Given the description of an element on the screen output the (x, y) to click on. 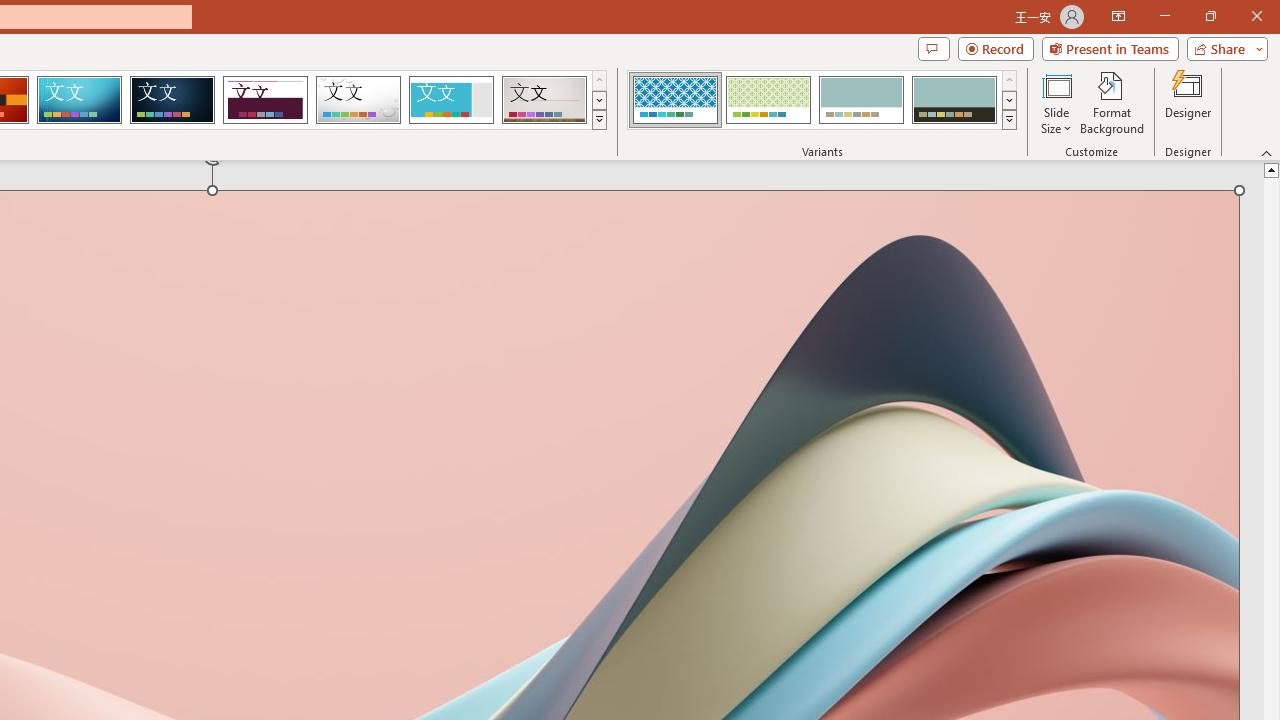
Integral Variant 2 (768, 100)
Integral Variant 4 (953, 100)
Damask (171, 100)
Integral Variant 3 (861, 100)
Circuit (79, 100)
Droplet (358, 100)
Format Background (1111, 102)
